Given the description of an element on the screen output the (x, y) to click on. 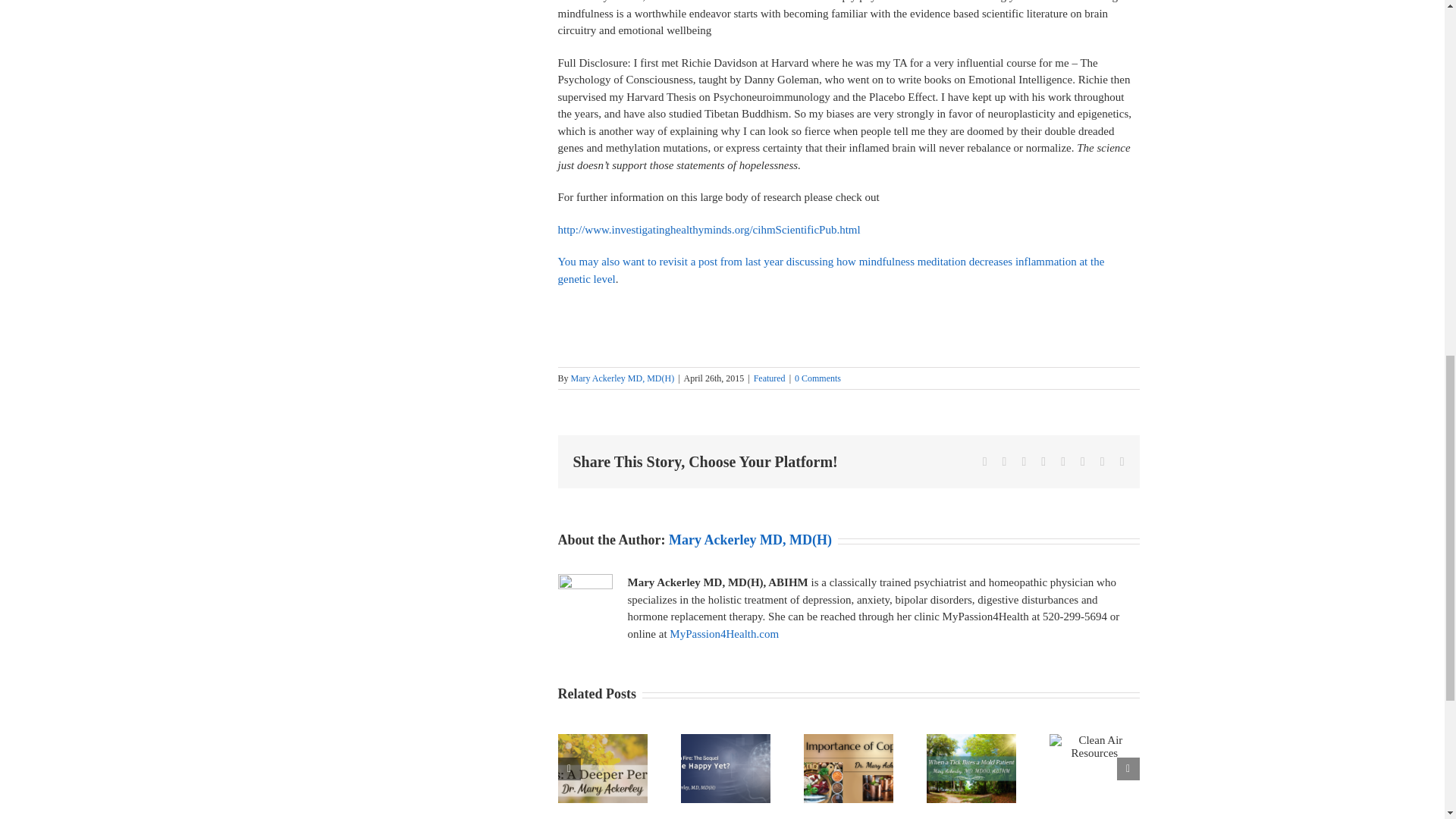
Research From the Center for Healthy Minds (708, 229)
Featured (770, 378)
MyPassion4Health.com (723, 633)
0 Comments (817, 378)
